Given the description of an element on the screen output the (x, y) to click on. 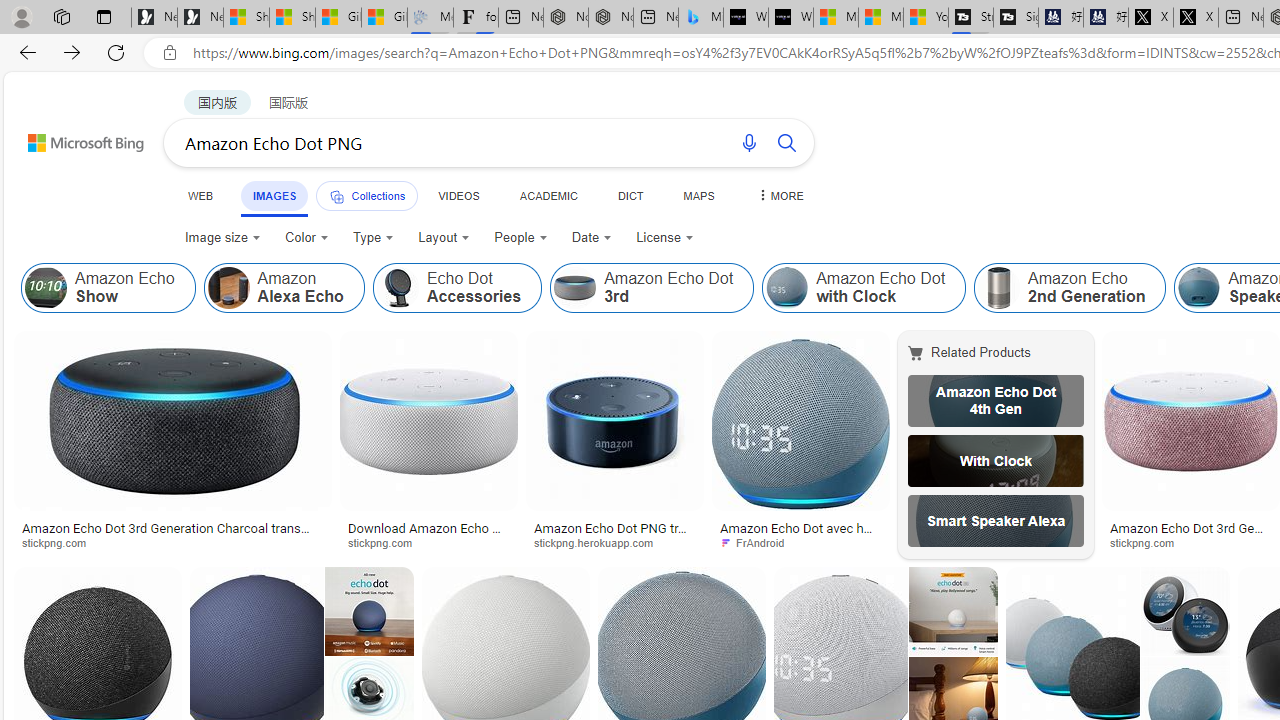
Nordace - #1 Japanese Best-Seller - Siena Smart Backpack (610, 17)
Color (305, 237)
Amazon Echo Dot with Clock (786, 287)
Smart Speaker Alexa Echo Dot (995, 521)
Layout (443, 237)
With Clock (995, 460)
MAPS (698, 195)
Type (372, 237)
Amazon Echo Dot 4th Gen (995, 400)
Amazon Echo Speaker (1199, 287)
Forward (72, 52)
